Given the description of an element on the screen output the (x, y) to click on. 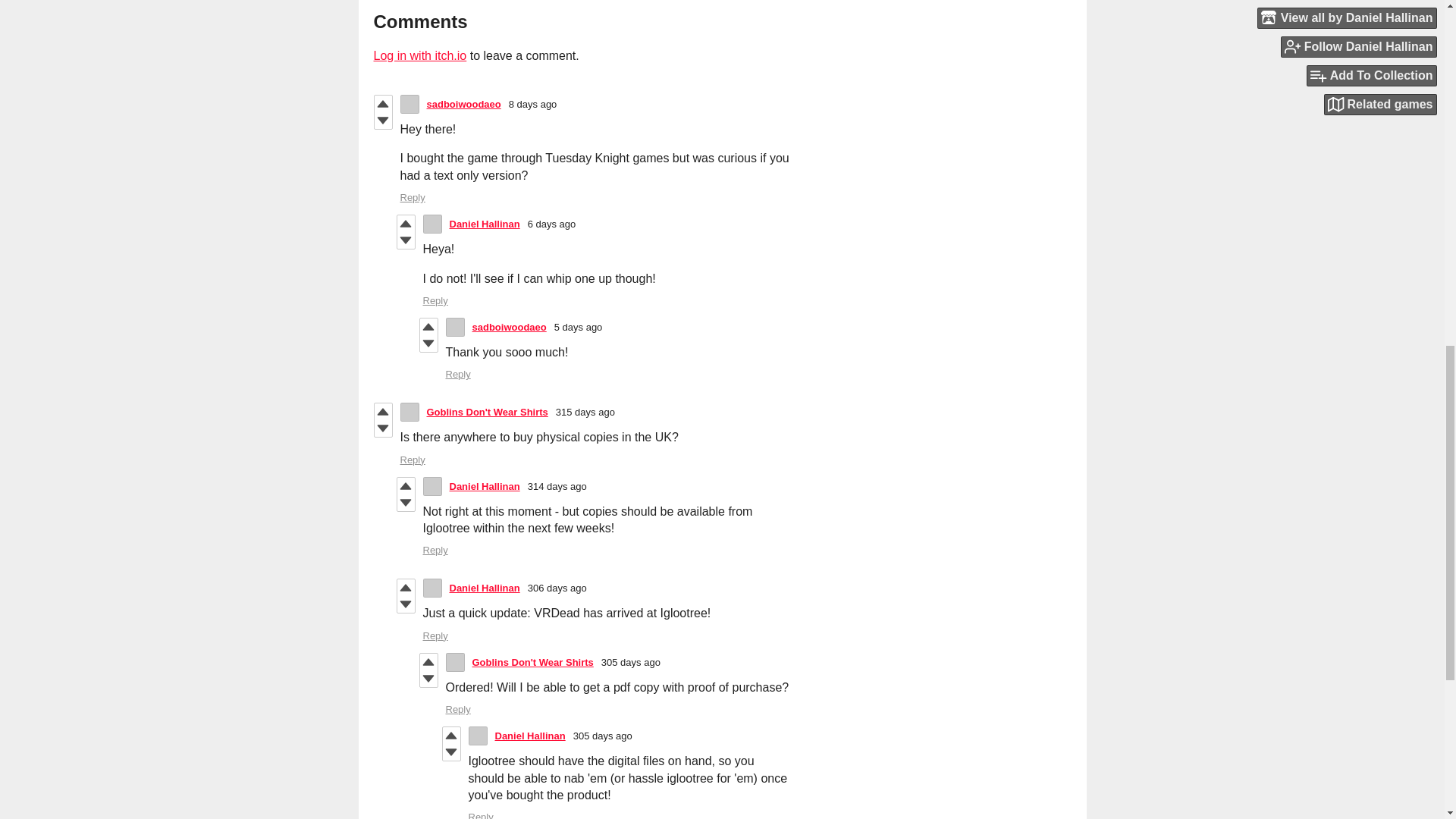
Daniel Hallinan (483, 224)
8 days ago (532, 103)
Vote up (429, 326)
sadboiwoodaeo (508, 326)
Vote up (382, 411)
2024-08-26 08:59:23 (551, 224)
Reply (412, 197)
Vote down (429, 343)
Log in with itch.io (418, 55)
Vote down (405, 502)
